Given the description of an element on the screen output the (x, y) to click on. 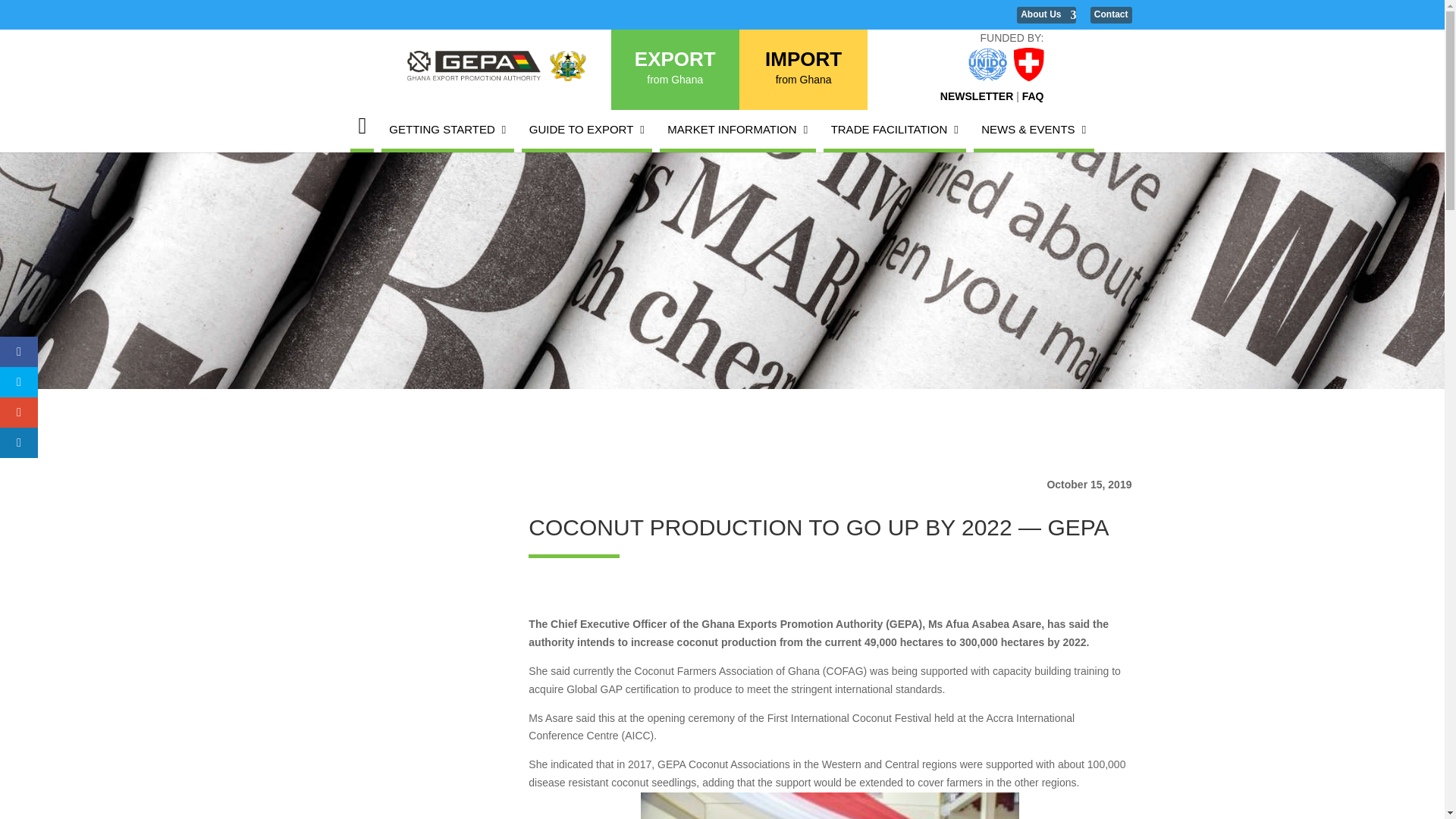
About Us (1045, 14)
GUIDE TO EXPORT (586, 128)
Contact (1111, 14)
GETTING STARTED (447, 128)
NEWSLETTER (803, 70)
MARKET INFORMATION (976, 96)
FAQ (675, 70)
